Given the description of an element on the screen output the (x, y) to click on. 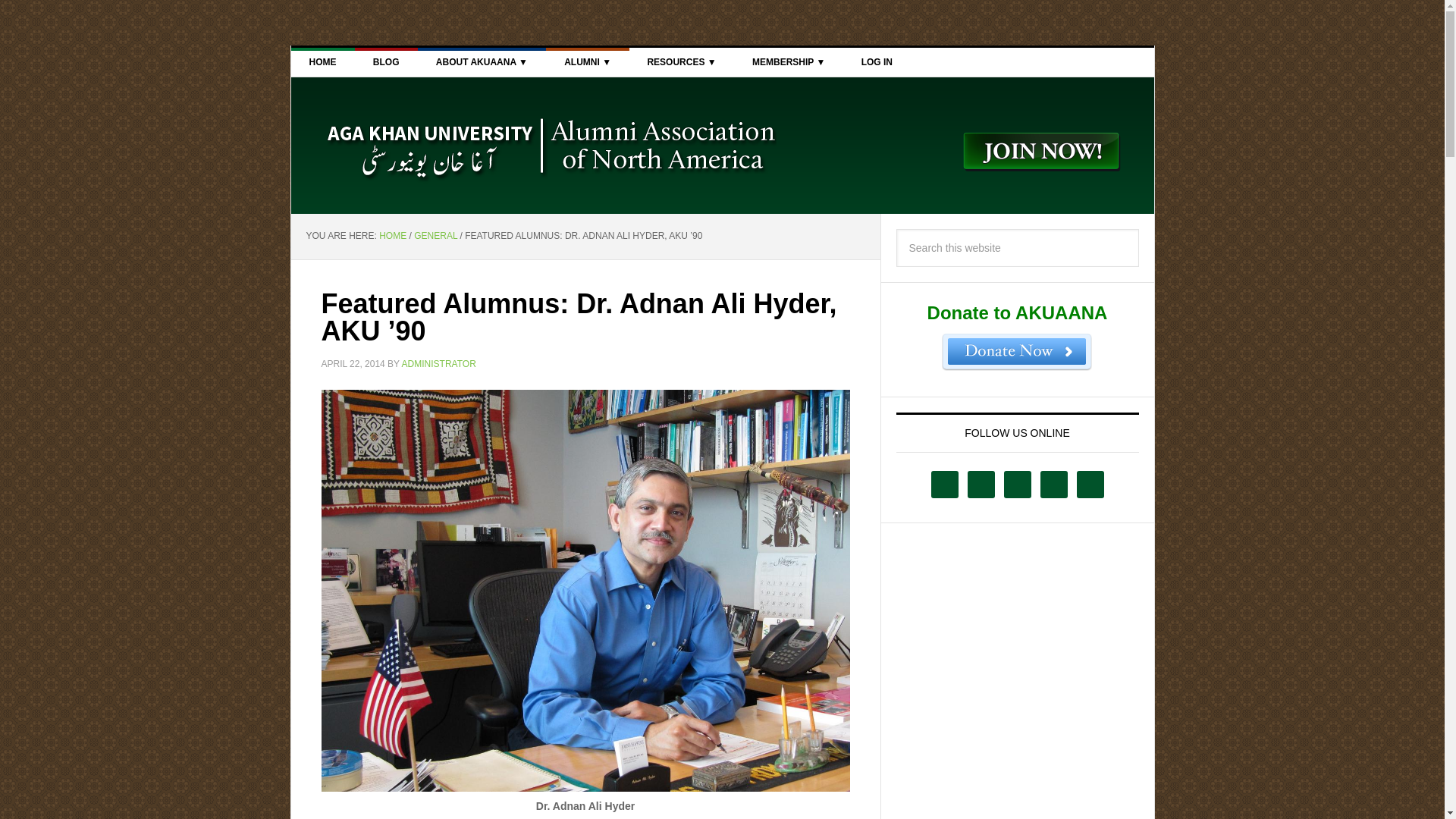
MEMBERSHIP (788, 61)
GENERAL (435, 235)
ADMINISTRATOR (438, 362)
ALUMNI (587, 61)
HOME (392, 235)
LOG IN (877, 61)
RESOURCES (680, 61)
HOME (323, 61)
